Given the description of an element on the screen output the (x, y) to click on. 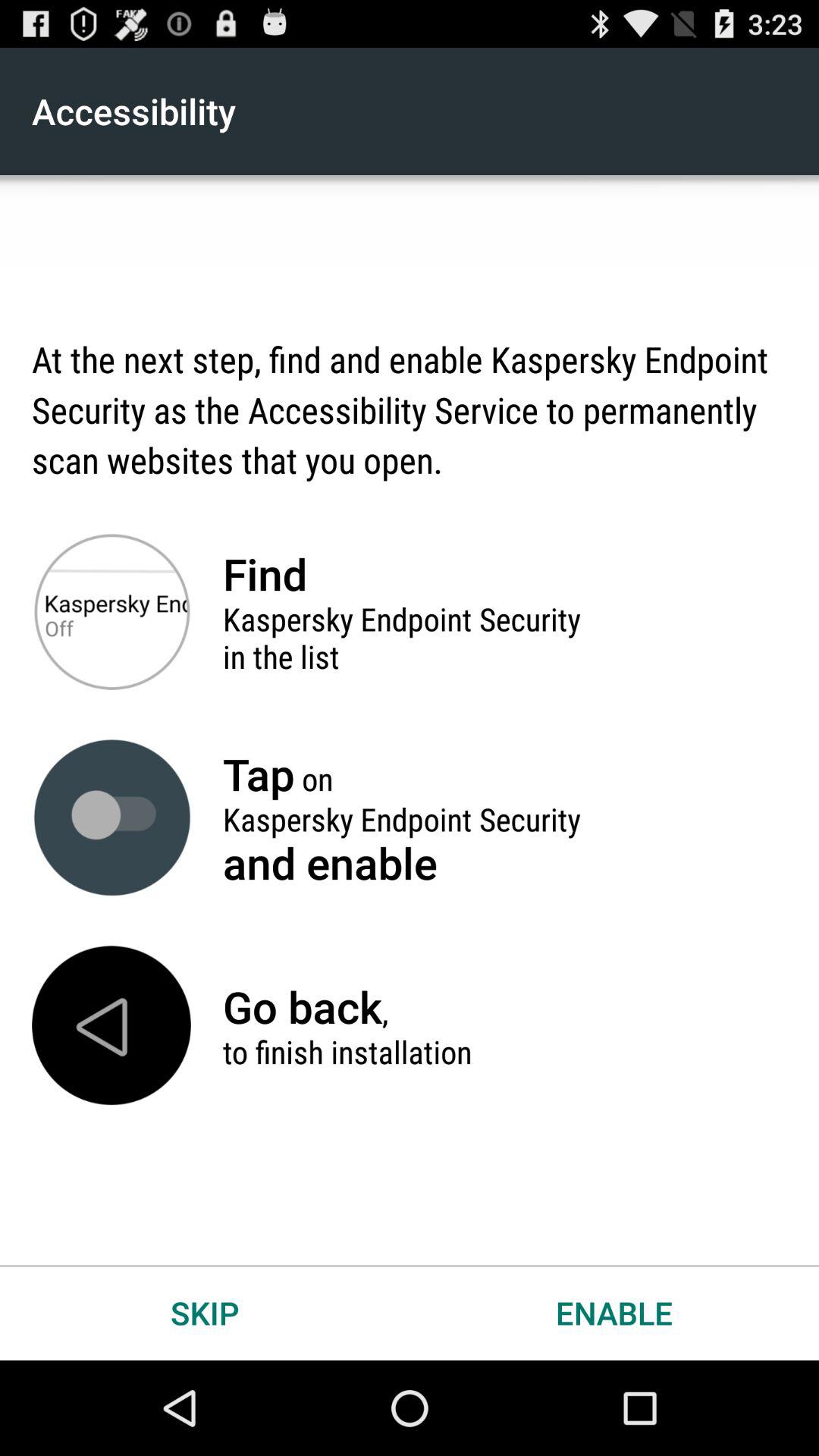
press the item to the left of enable icon (204, 1312)
